Given the description of an element on the screen output the (x, y) to click on. 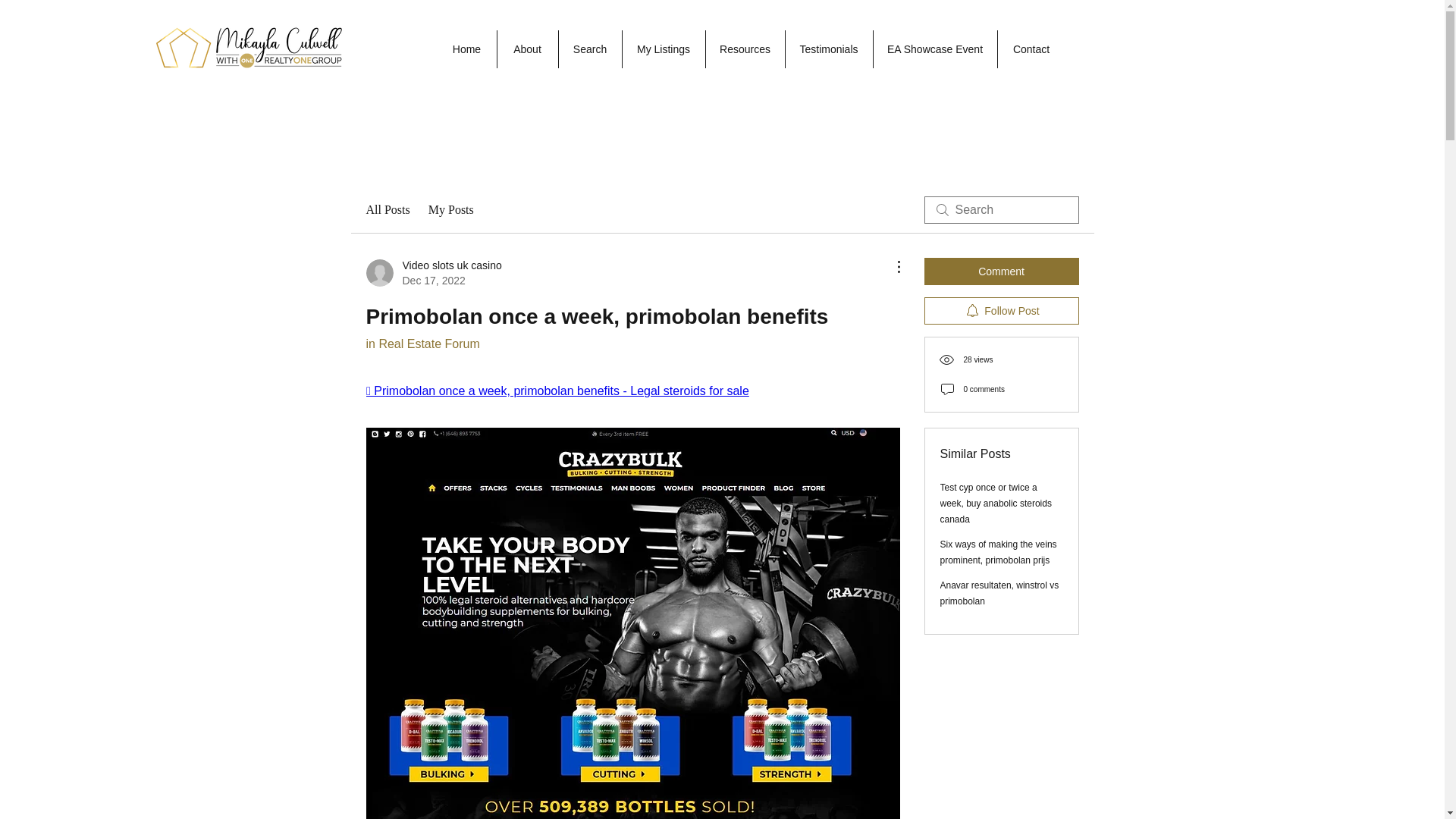
Follow Post (1000, 310)
Anavar resultaten, winstrol vs primobolan (999, 592)
Search (589, 48)
EA Showcase Event (933, 48)
All Posts (387, 209)
Home (466, 48)
Comment (1000, 271)
in Real Estate Forum (422, 343)
About (526, 48)
Contact (1029, 48)
Six ways of making the veins prominent, primobolan prijs (998, 551)
My Posts (451, 209)
Testimonials (828, 48)
Test cyp once or twice a week, buy anabolic steroids canada (995, 503)
